Given the description of an element on the screen output the (x, y) to click on. 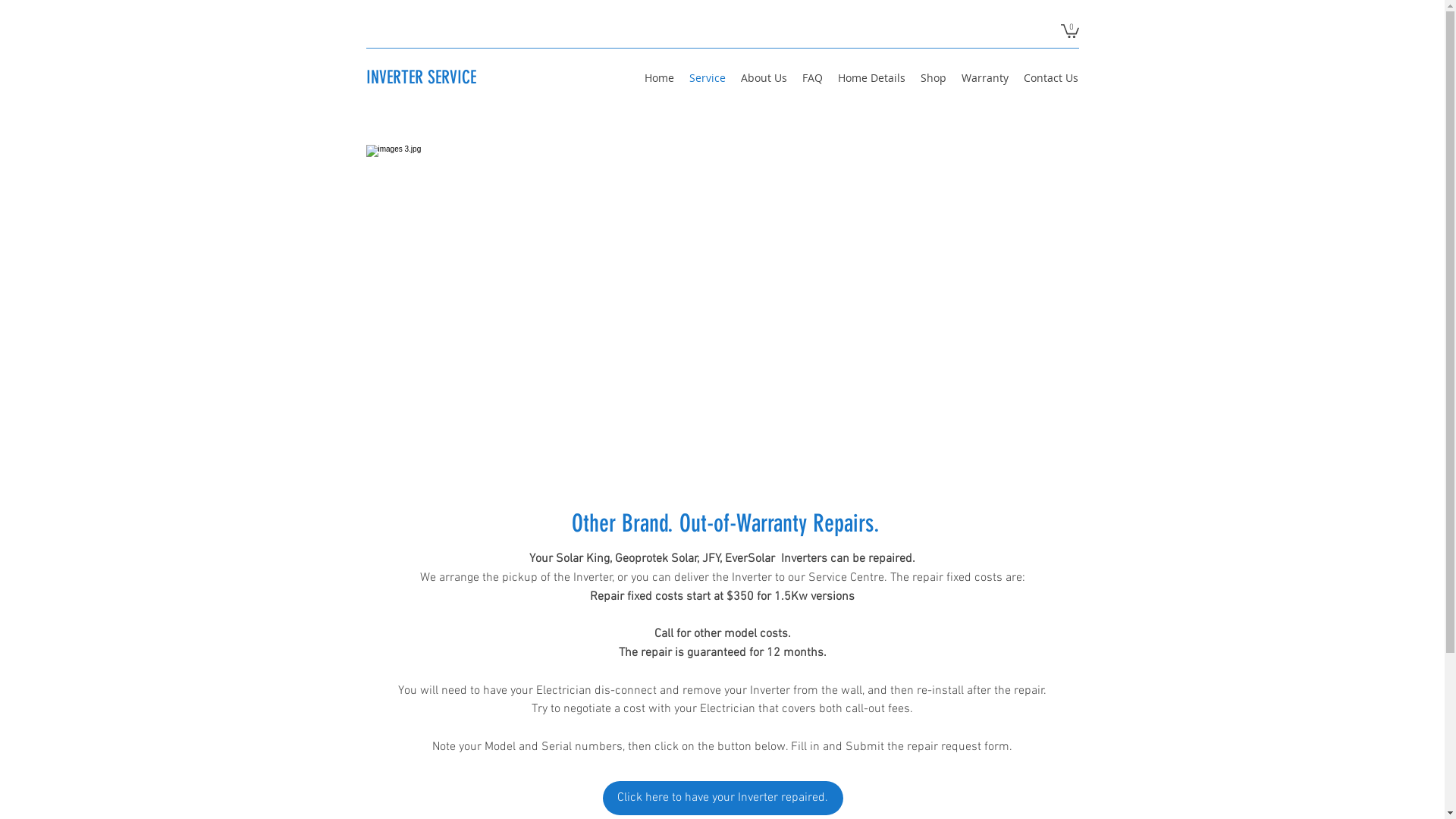
0 Element type: text (1069, 29)
Warranty Element type: text (984, 77)
Home Element type: text (659, 77)
Contact Us Element type: text (1050, 77)
FAQ Element type: text (812, 77)
Click here to have your Inverter repaired. Element type: text (722, 798)
Shop Element type: text (933, 77)
Service Element type: text (706, 77)
Home Details Element type: text (870, 77)
About Us Element type: text (762, 77)
